Given the description of an element on the screen output the (x, y) to click on. 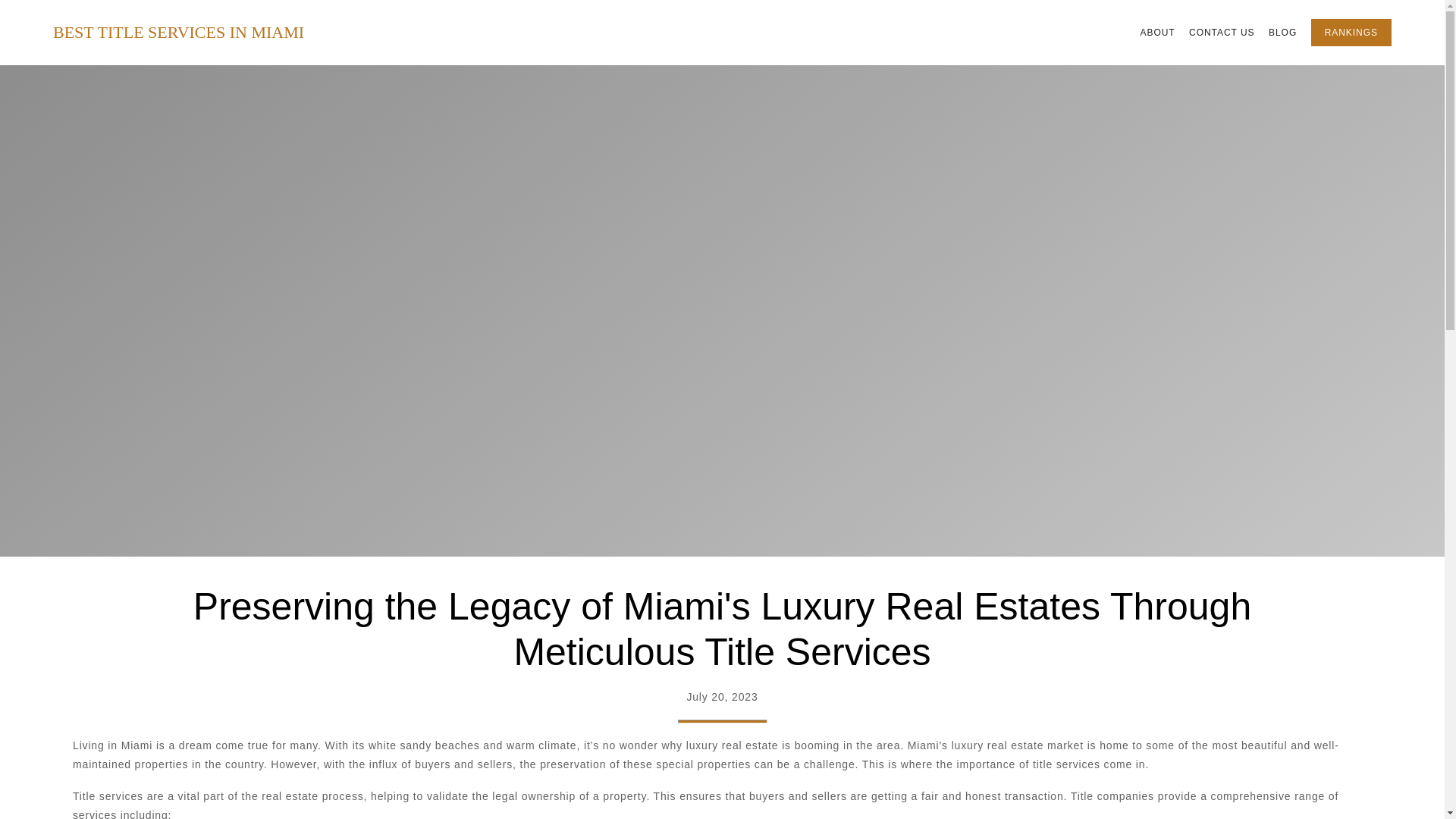
RANKINGS (1351, 31)
BLOG (1282, 32)
ABOUT (1157, 32)
CONTACT US (1222, 32)
BEST TITLE SERVICES IN MIAMI (178, 32)
